Given the description of an element on the screen output the (x, y) to click on. 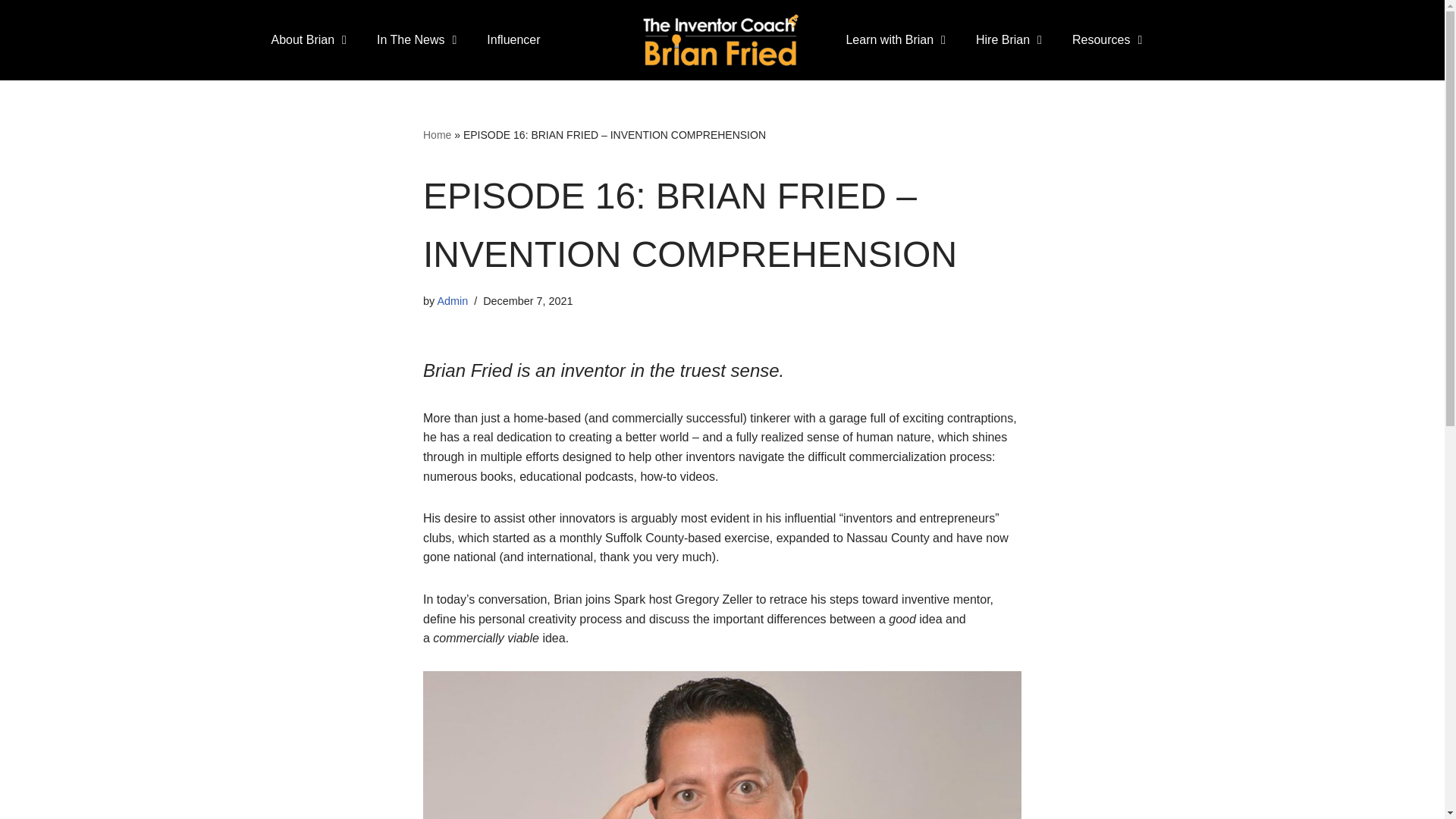
Influencer (512, 39)
Skip to content (11, 31)
About Brian (308, 39)
In The News (416, 39)
Posts by Admin (451, 300)
Hire Brian (1008, 39)
Resources (1107, 39)
Learn with Brian (894, 39)
